Given the description of an element on the screen output the (x, y) to click on. 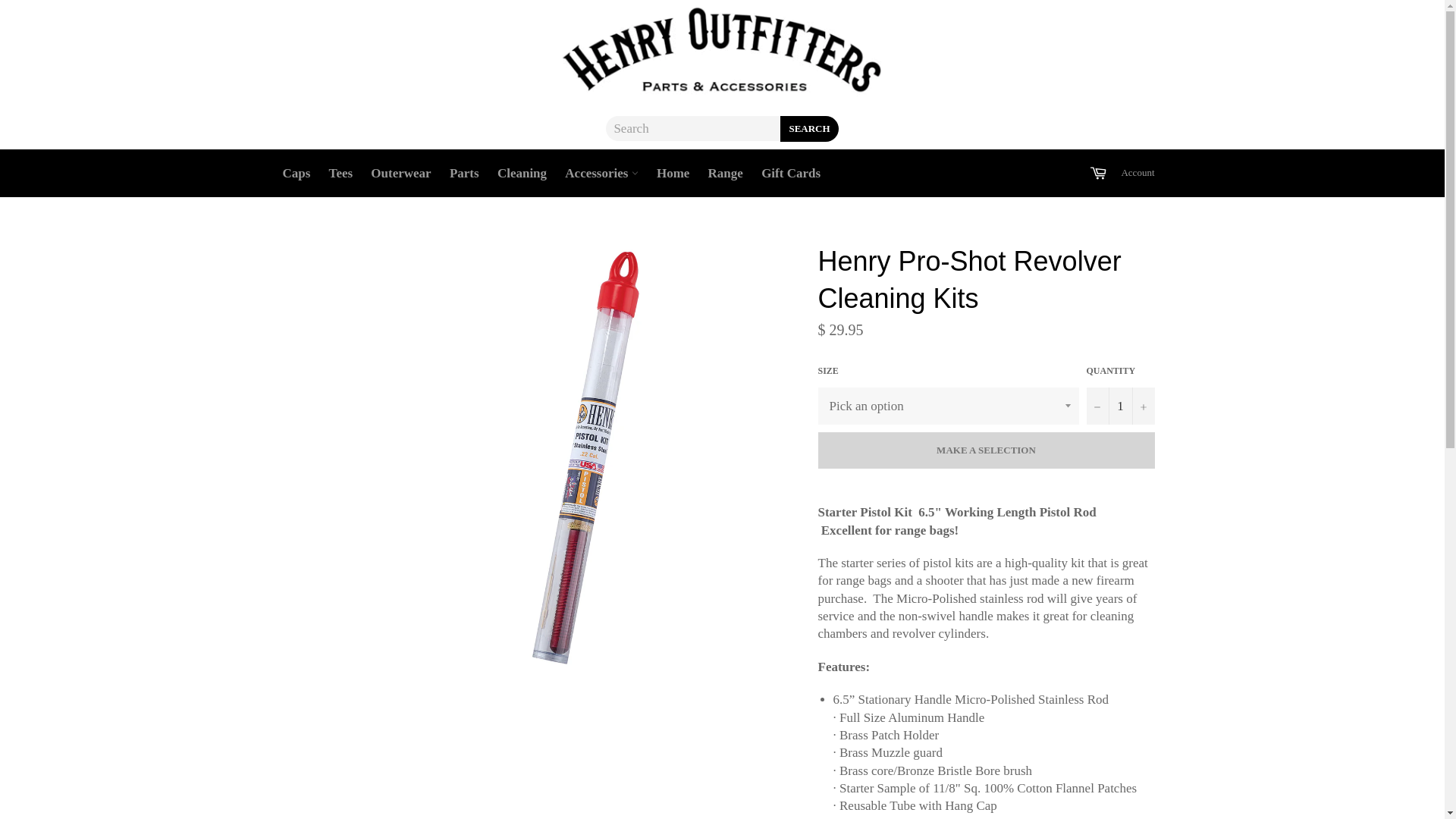
1 (1120, 406)
Cart (1097, 172)
Cleaning (521, 173)
Caps (296, 173)
Parts (464, 173)
Account (1137, 172)
Home (673, 173)
Range (725, 173)
SEARCH (809, 128)
Gift Cards (791, 173)
Outerwear (400, 173)
Accessories (601, 173)
